Given the description of an element on the screen output the (x, y) to click on. 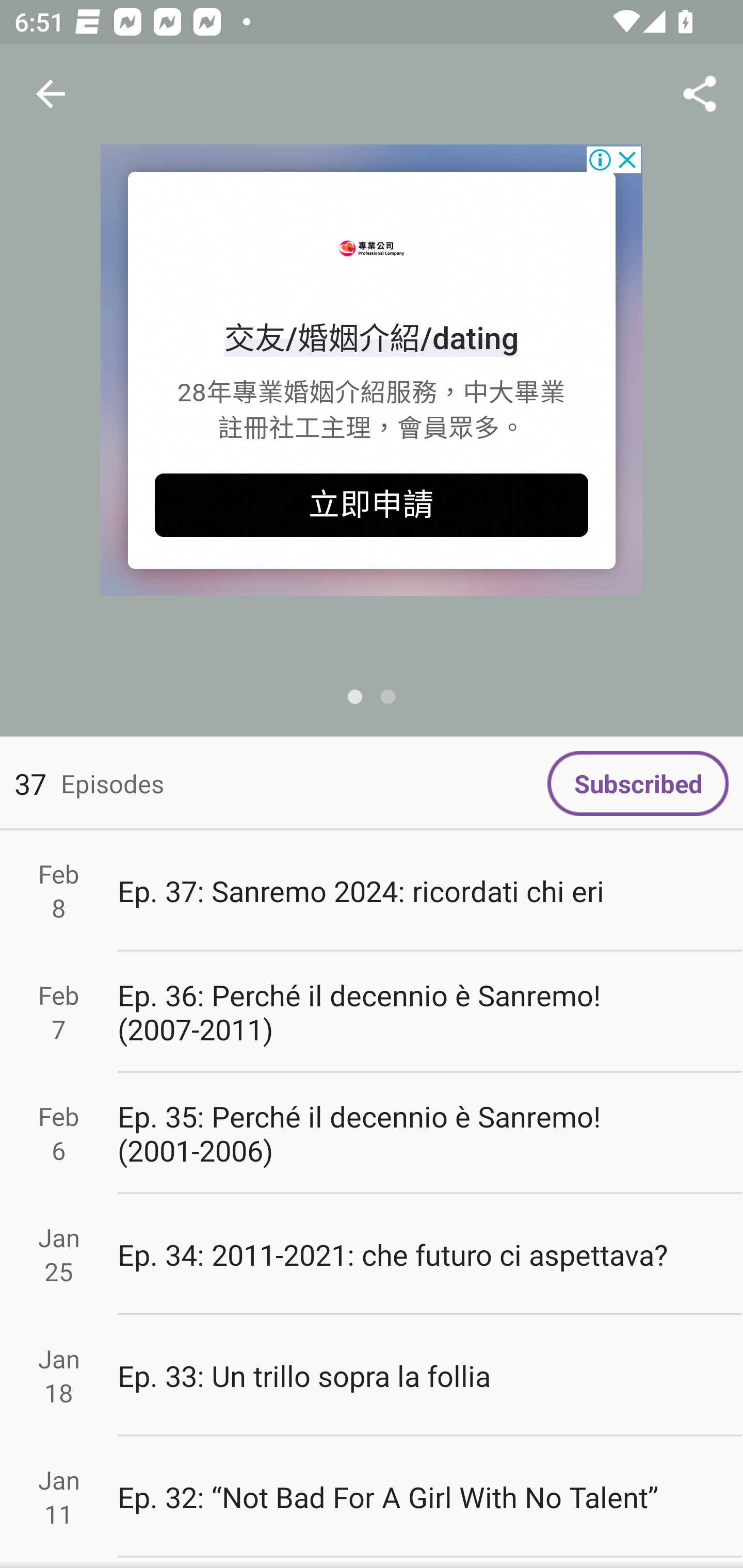
Navigate up (50, 93)
Share... (699, 93)
交友/婚姻介紹/dating (371, 338)
立即申請 (371, 505)
Subscribed (637, 783)
Feb 8 Ep. 37: Sanremo 2024: ricordati chi eri (371, 891)
Jan 25 Ep. 34: 2011-2021: che futuro ci aspettava? (371, 1254)
Jan 18 Ep. 33: Un trillo sopra la follia (371, 1375)
Jan 11 Ep. 32: “Not Bad For A Girl With No Talent” (371, 1496)
